Given the description of an element on the screen output the (x, y) to click on. 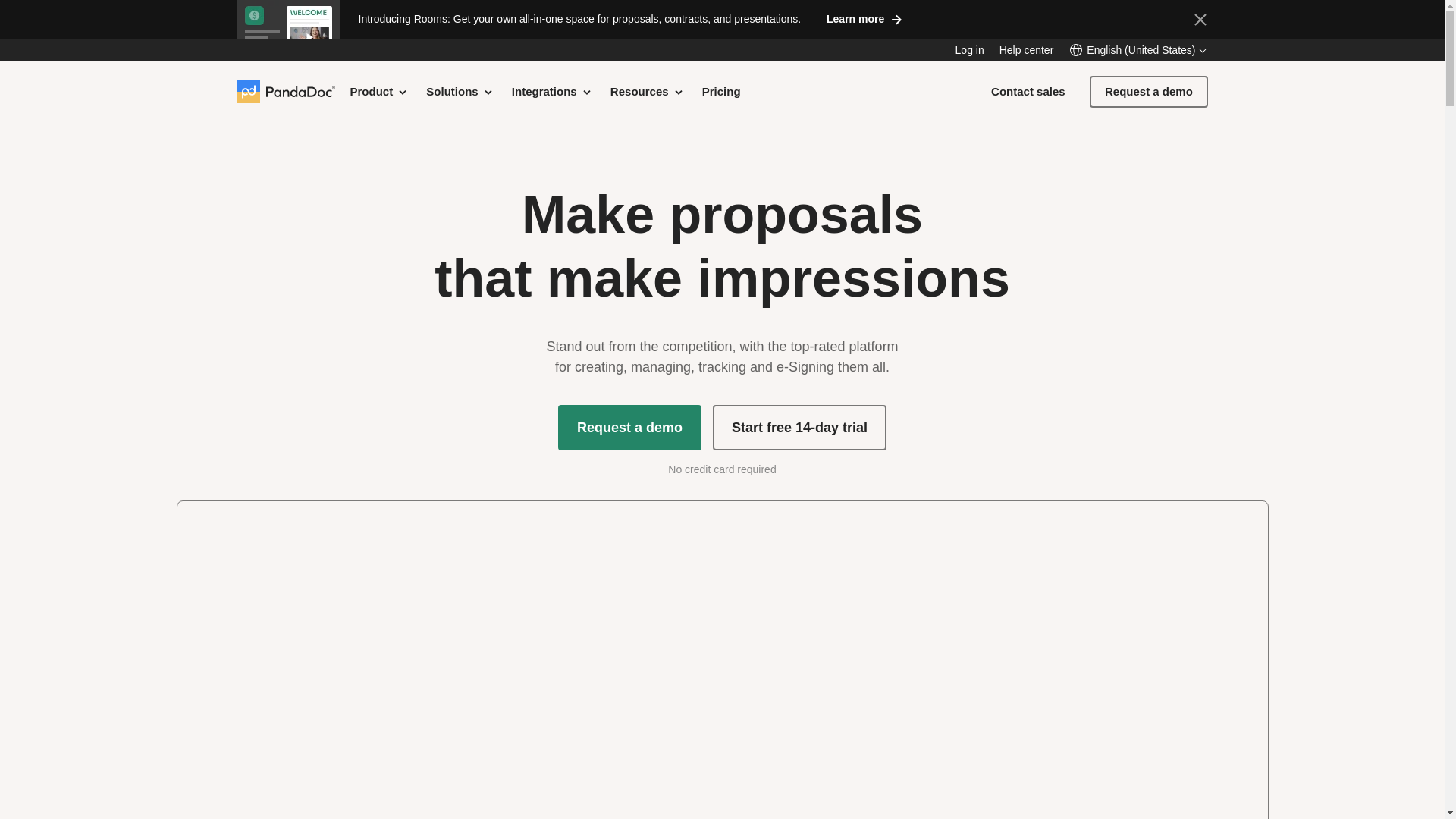
Solutions (459, 91)
Learn more (864, 18)
Product (379, 91)
Log in (969, 50)
Help center (1026, 50)
